Given the description of an element on the screen output the (x, y) to click on. 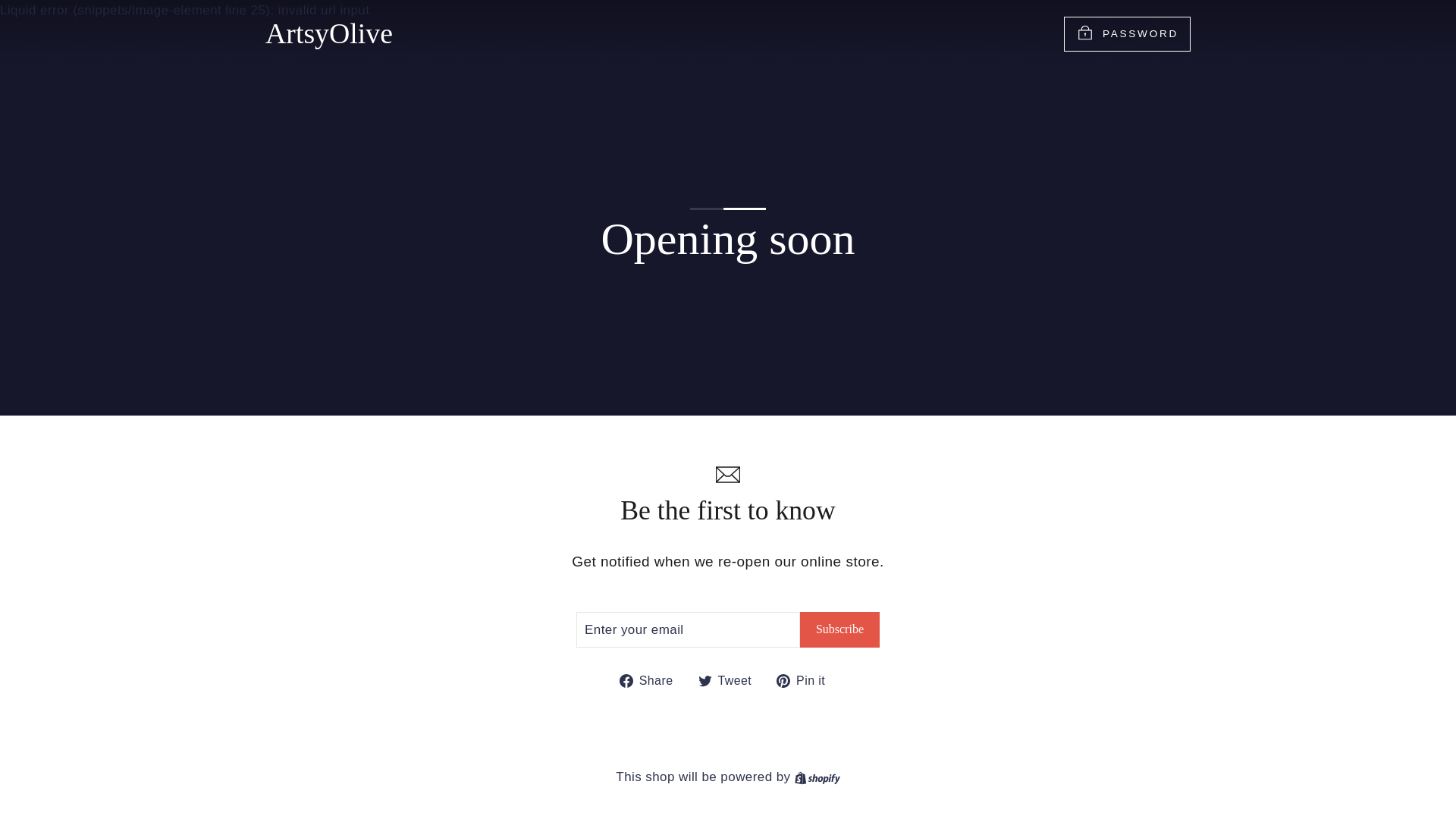
Shopify (817, 776)
Subscribe (805, 680)
Pin on Pinterest (652, 680)
Share on Facebook (839, 629)
Tweet on Twitter (805, 680)
Create your own online store with Shopify (652, 680)
